Given the description of an element on the screen output the (x, y) to click on. 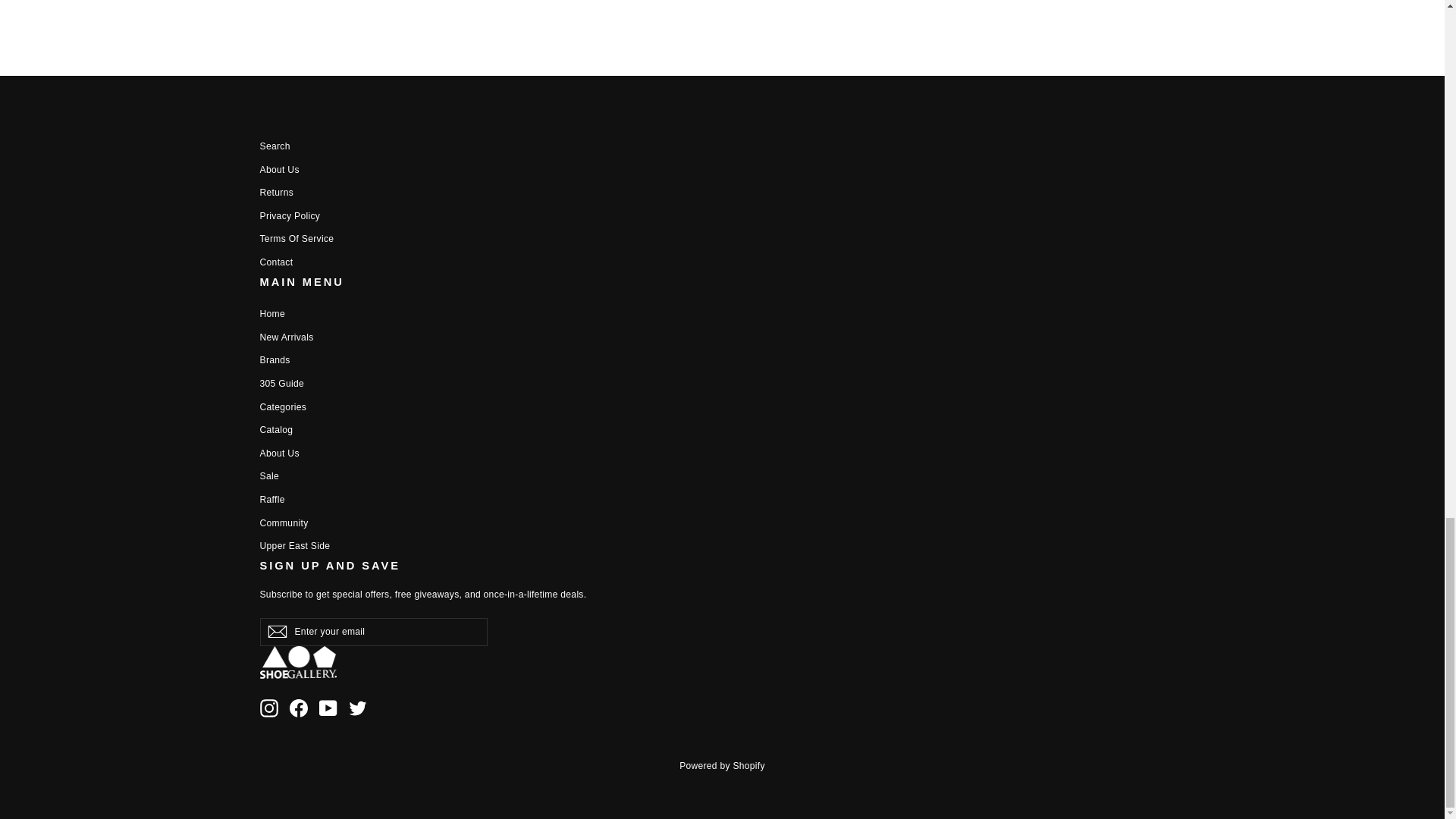
Shoe Gallery Inc on Twitter (357, 708)
Shoe Gallery Inc on Instagram (268, 708)
Shoe Gallery Inc on YouTube (327, 708)
Shoe Gallery Inc on Facebook (298, 708)
